Given the description of an element on the screen output the (x, y) to click on. 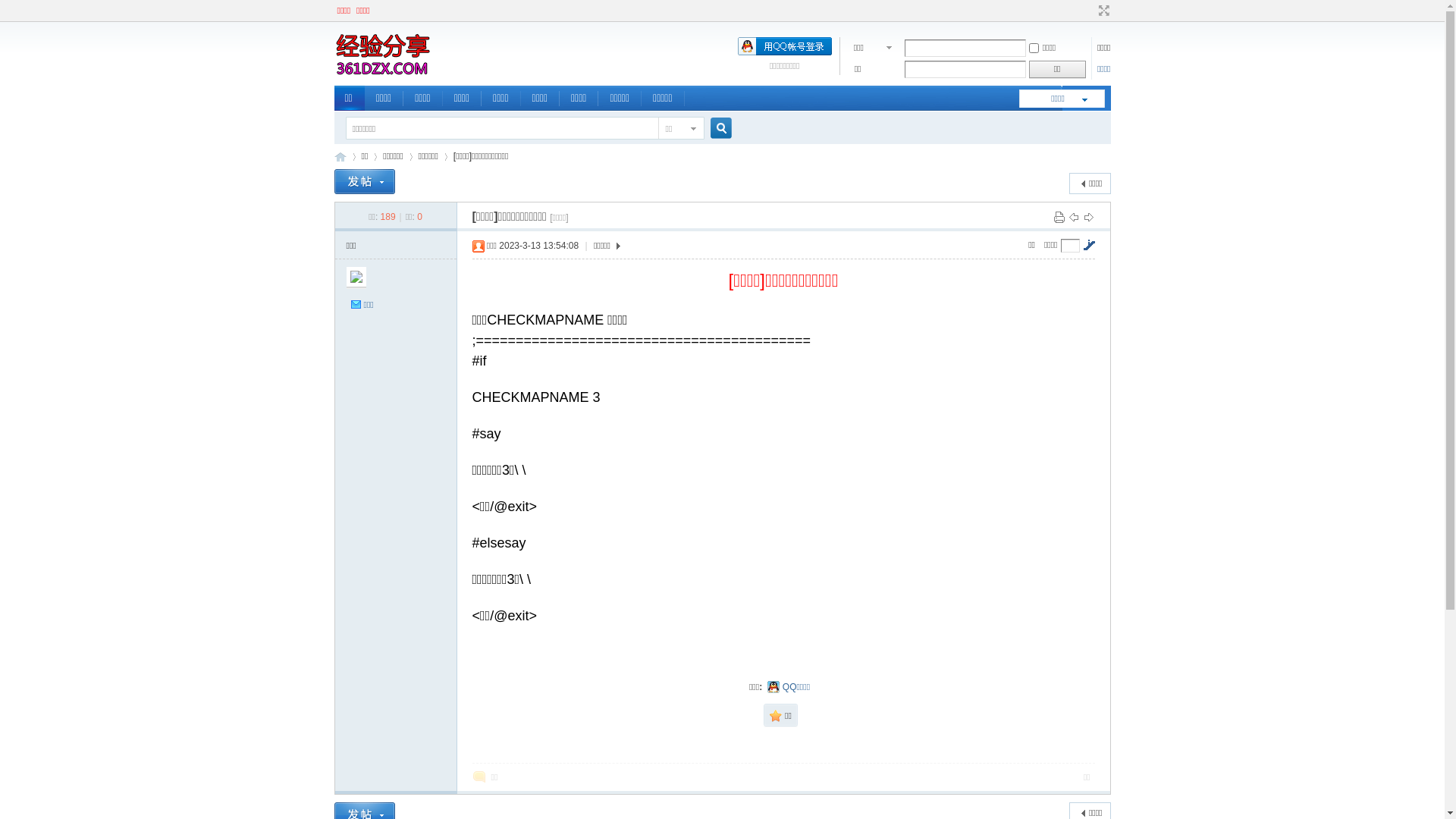
true Element type: text (714, 128)
